Given the description of an element on the screen output the (x, y) to click on. 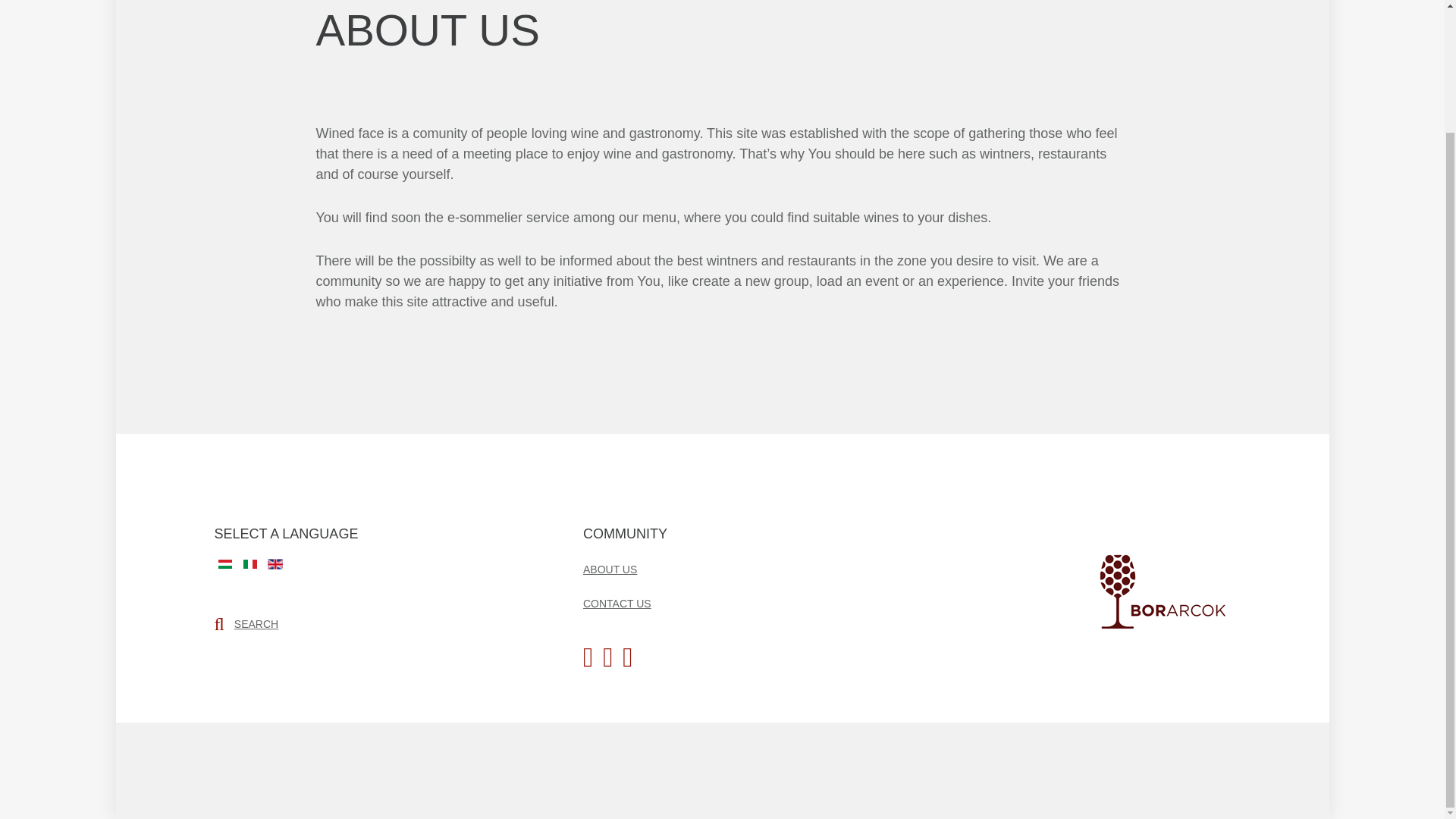
Magyar (224, 563)
ABOUT US (610, 569)
Back To Top (232, 770)
SEARCH (256, 623)
CONTACT US (616, 603)
